Given the description of an element on the screen output the (x, y) to click on. 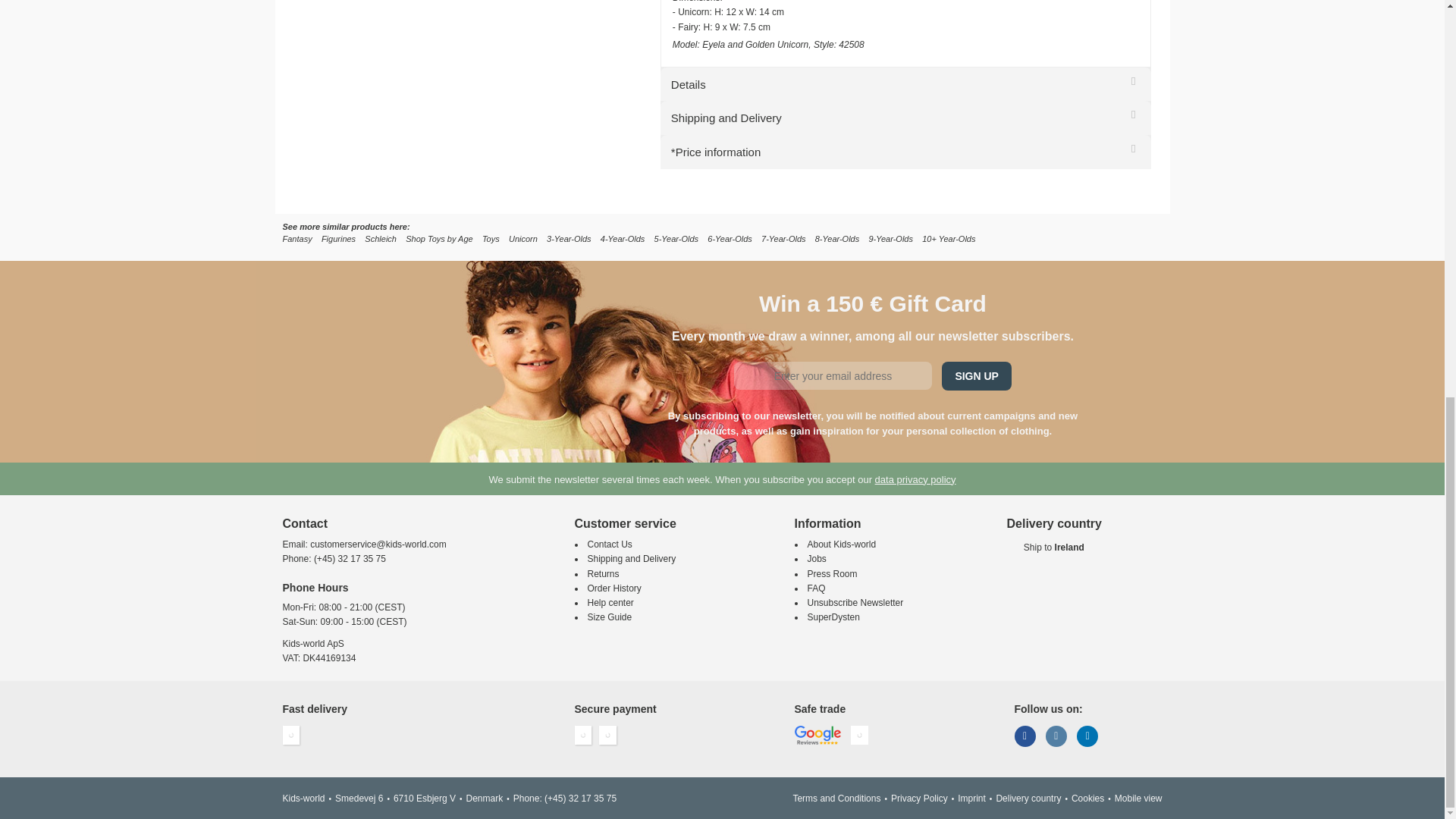
LinkedIn (1087, 736)
Facebook (1024, 736)
Instagram (1056, 736)
CO2 Neutral Website (858, 734)
